Given the description of an element on the screen output the (x, y) to click on. 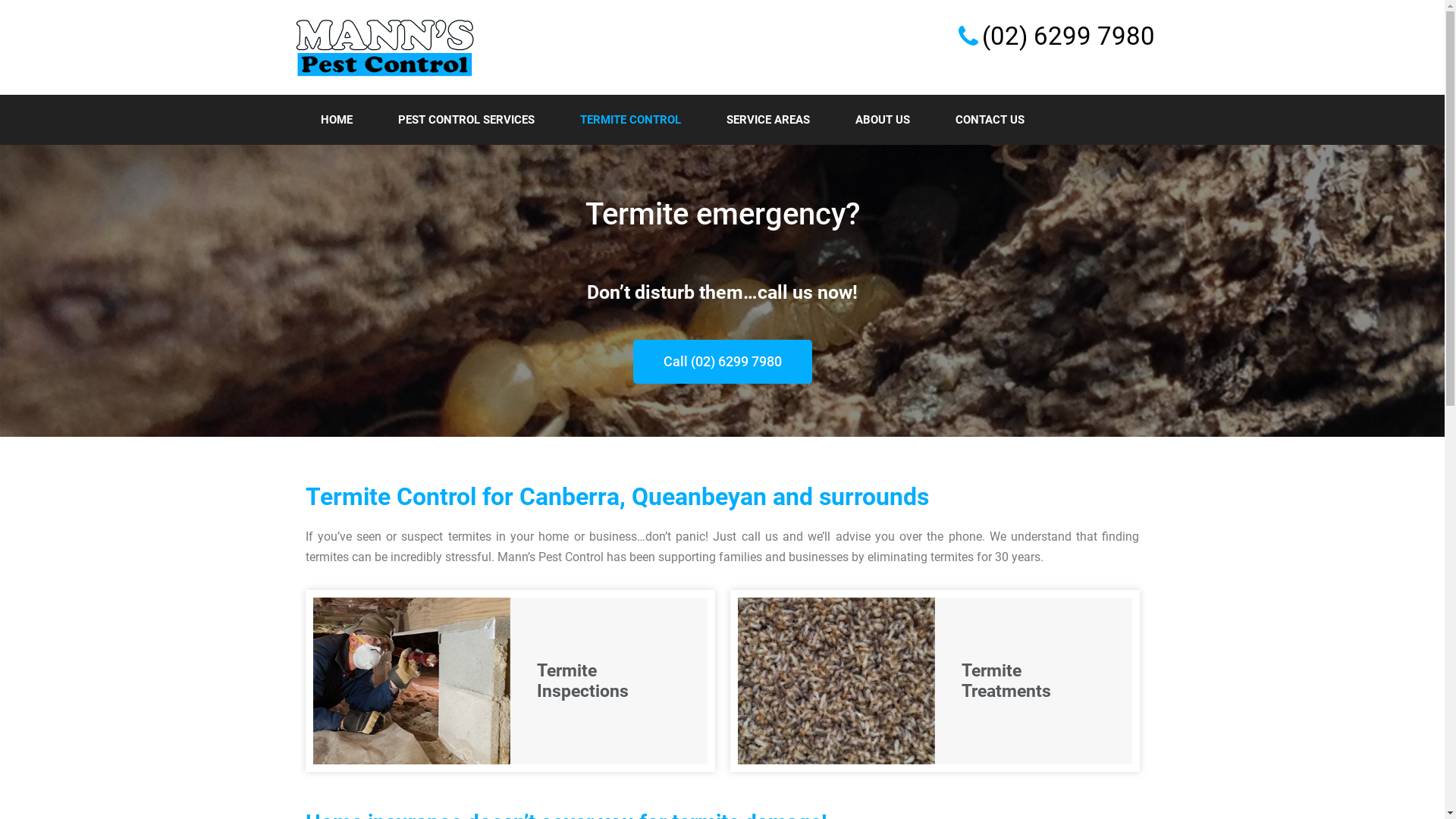
Call (02) 6299 7980 Element type: text (721, 361)
Termite Treatments Element type: text (934, 680)
HOME Element type: text (335, 119)
TERMITE CONTROL Element type: text (629, 119)
CONTACT US Element type: text (989, 119)
PEST CONTROL SERVICES Element type: text (465, 119)
Termite Inspections Element type: text (509, 680)
SERVICE AREAS Element type: text (767, 119)
ABOUT US Element type: text (882, 119)
